Given the description of an element on the screen output the (x, y) to click on. 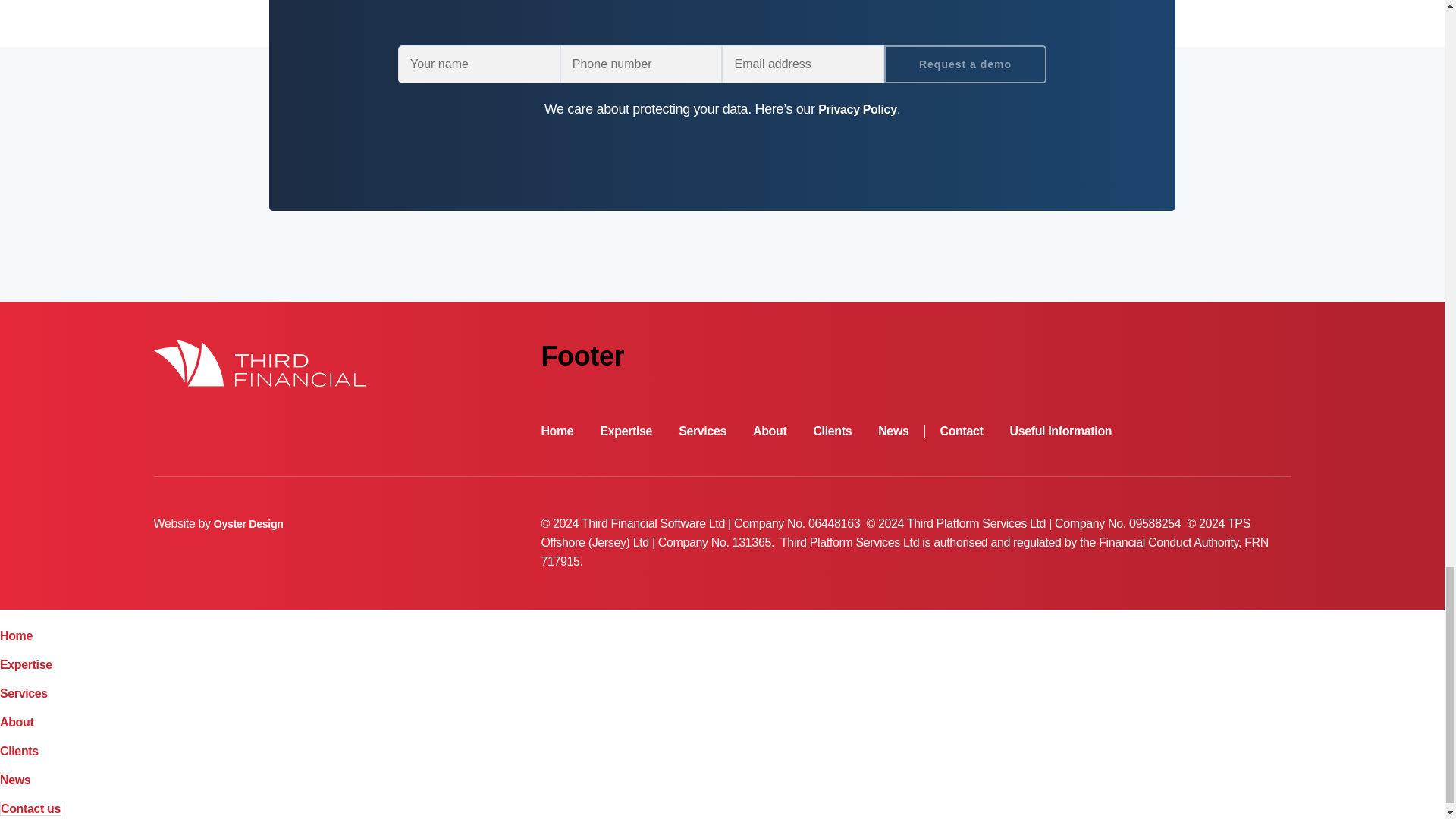
Privacy Policy (857, 109)
Services (24, 693)
Home (556, 431)
News (15, 779)
News (900, 431)
Expertise (26, 664)
Home (16, 635)
Contact (962, 431)
About (769, 431)
Expertise (625, 431)
Useful Information (1060, 431)
Clients (831, 431)
Request a demo (964, 64)
About (16, 721)
Contact us (30, 808)
